Given the description of an element on the screen output the (x, y) to click on. 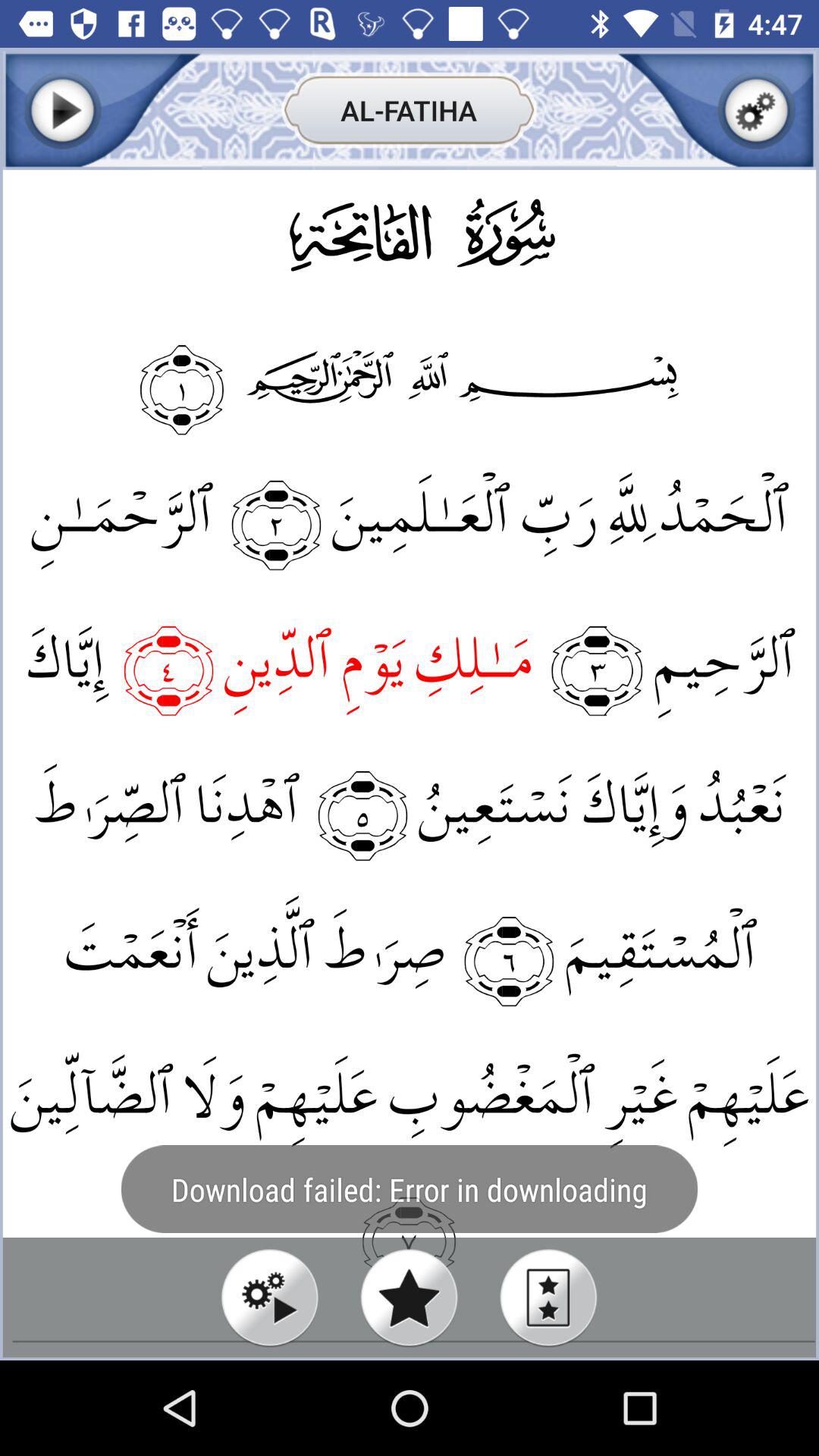
toggle play option (269, 1297)
